Given the description of an element on the screen output the (x, y) to click on. 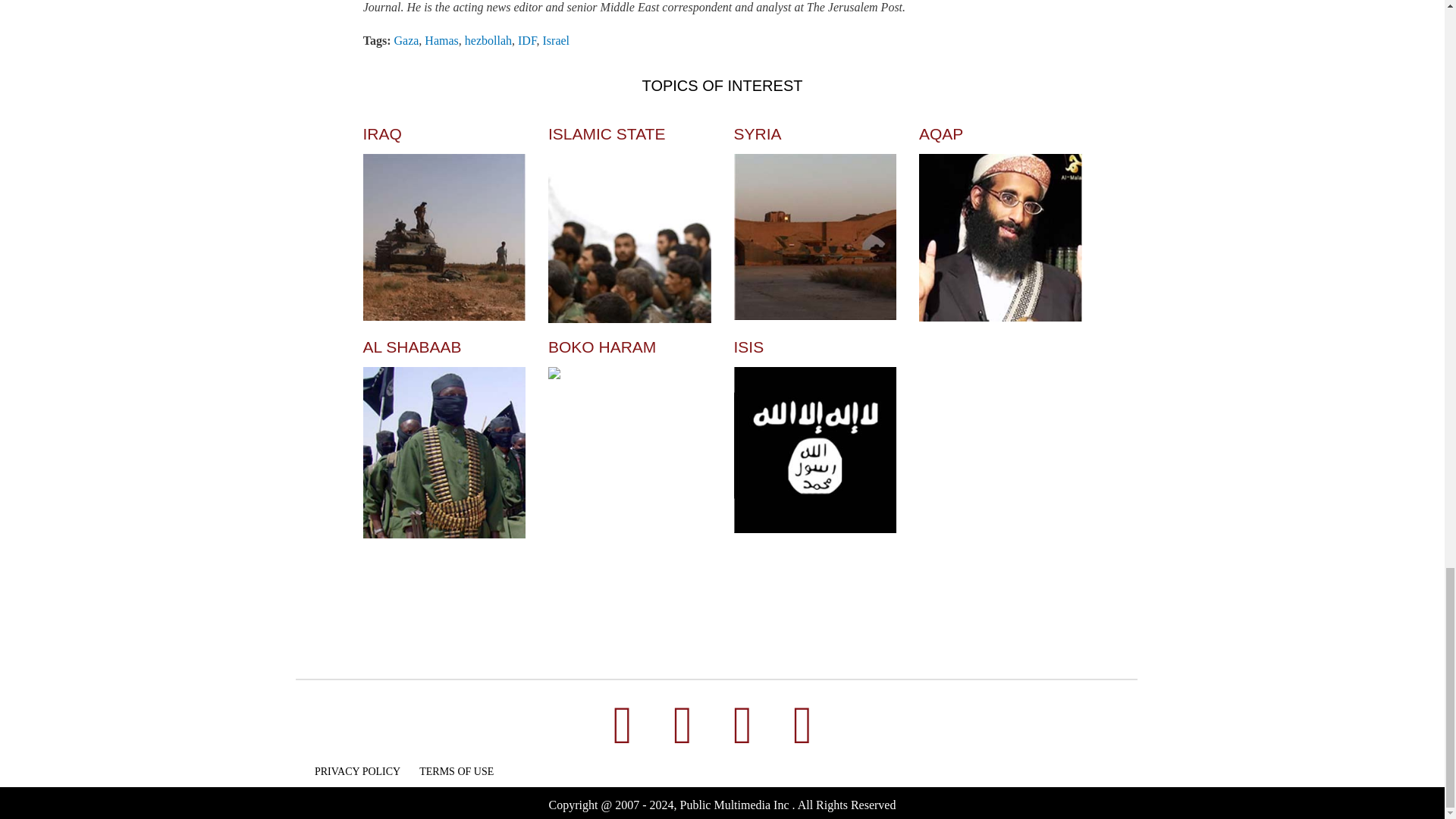
hezbollah (488, 40)
IDF (527, 40)
Gaza (406, 40)
Hamas (441, 40)
Israel (556, 40)
